Given the description of an element on the screen output the (x, y) to click on. 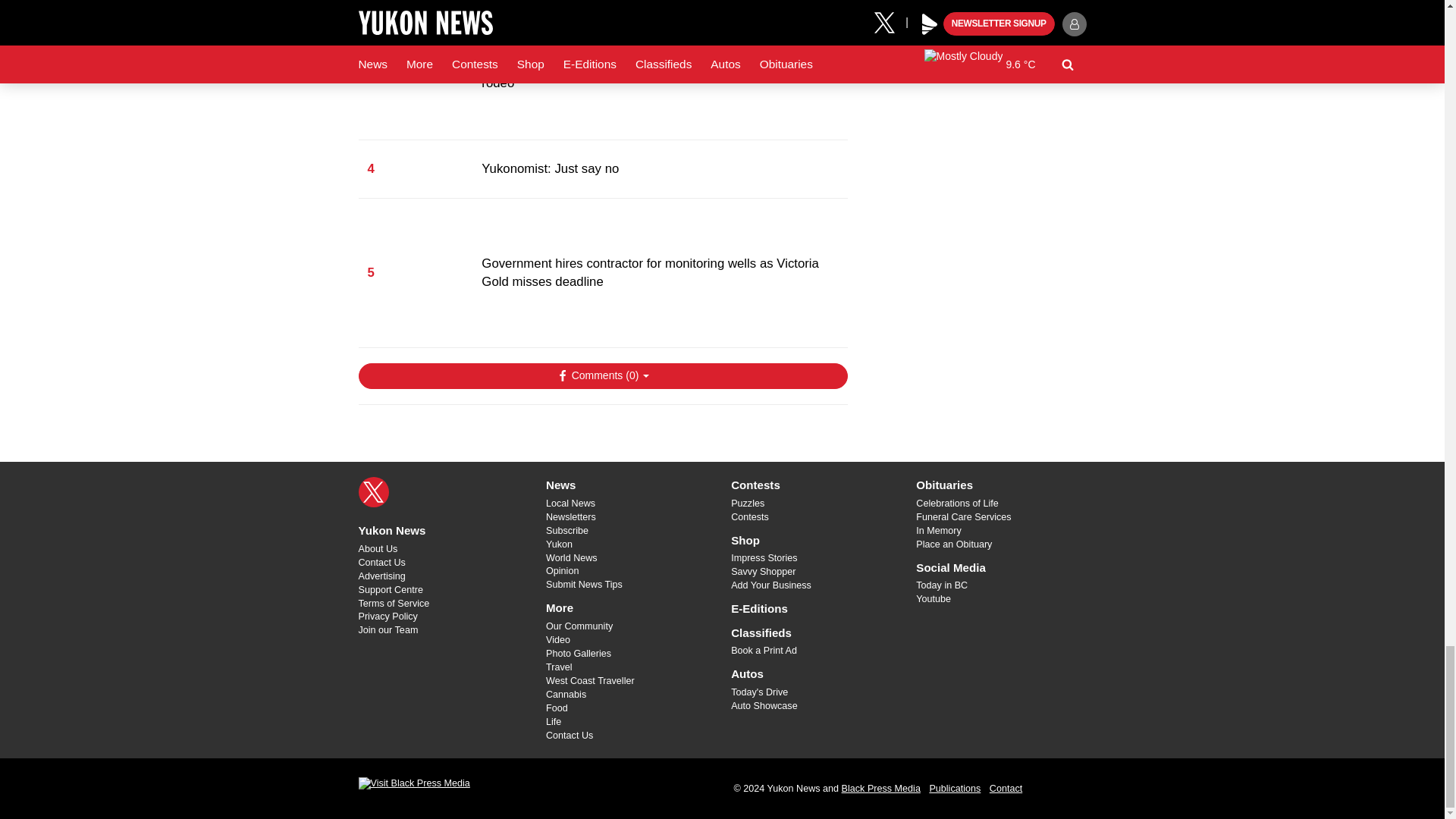
X (373, 491)
Show Comments (602, 376)
